Given the description of an element on the screen output the (x, y) to click on. 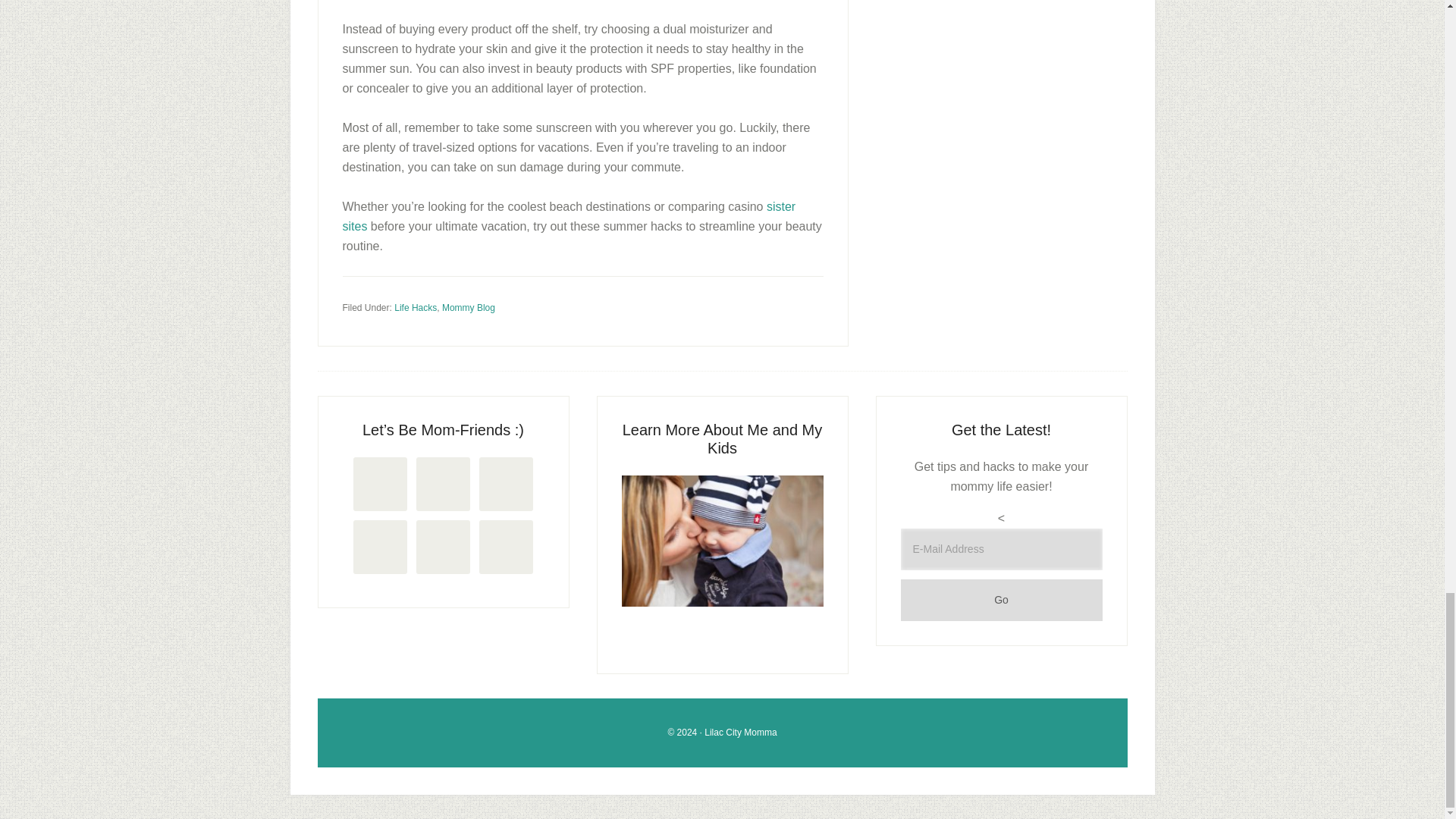
Life Hacks (415, 307)
Go (1001, 599)
Mommy Blog (468, 307)
Go (1001, 599)
sister sites (569, 215)
Lilac City Momma (740, 732)
